Given the description of an element on the screen output the (x, y) to click on. 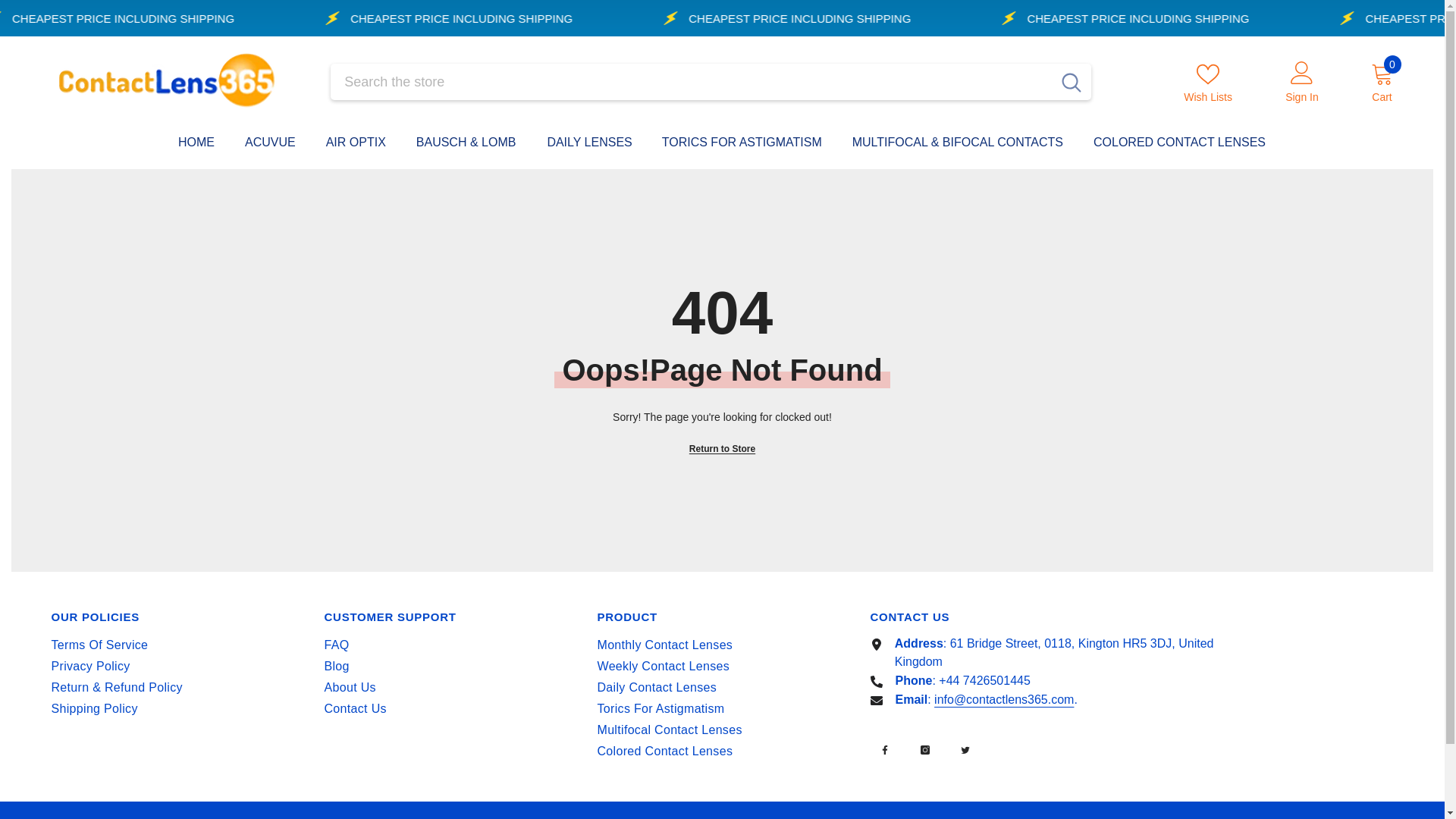
CHEAPEST PRICE INCLUDING SHIPPING (553, 17)
CHEAPEST PRICE INCLUDING SHIPPING (446, 18)
CHEAPEST PRICE INCLUDING SHIPPING (891, 17)
CHEAPEST PRICE INCLUDING SHIPPING (139, 18)
CHEAPEST PRICE INCLUDING SHIPPING (1122, 18)
CHEAPEST PRICE INCLUDING SHIPPING (1229, 17)
CHEAPEST PRICE INCLUDING SHIPPING (215, 17)
CHEAPEST PRICE INCLUDING SHIPPING (784, 18)
